Given the description of an element on the screen output the (x, y) to click on. 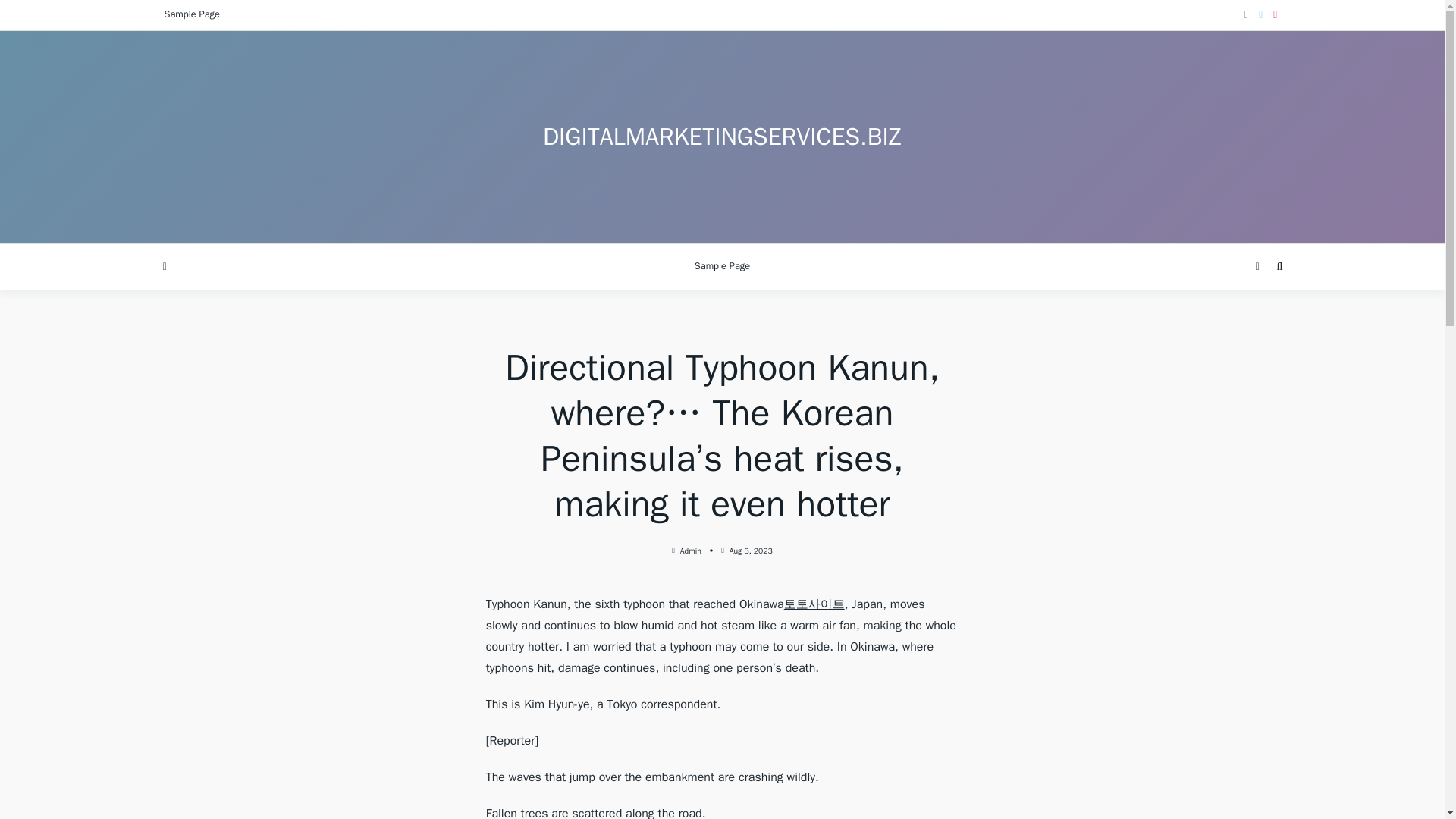
Aug 3, 2023 (751, 551)
Sample Page (721, 266)
DIGITALMARKETINGSERVICES.BIZ (722, 136)
Sample Page (191, 14)
Admin (690, 551)
